Given the description of an element on the screen output the (x, y) to click on. 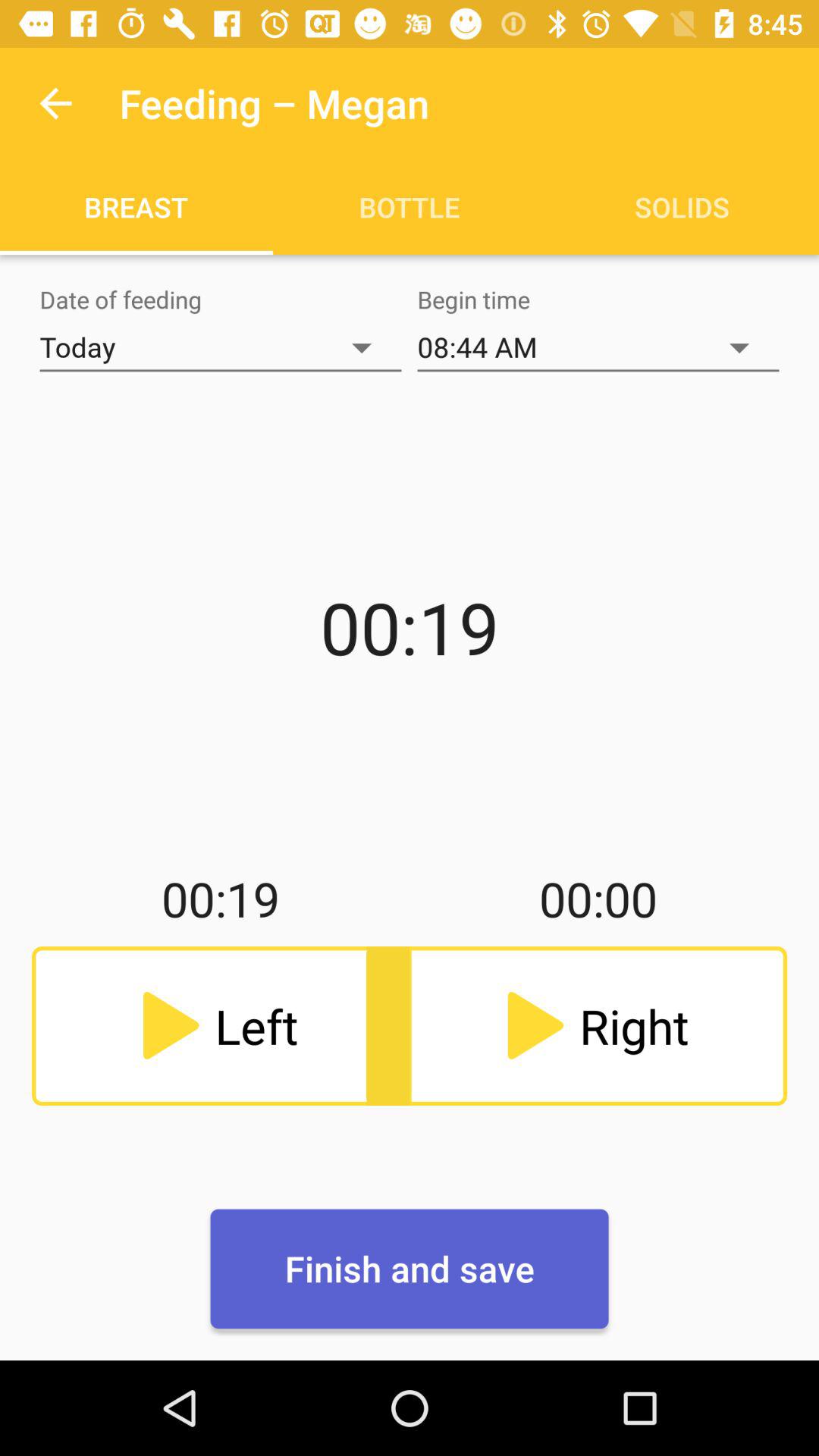
open finish and save item (409, 1268)
